Given the description of an element on the screen output the (x, y) to click on. 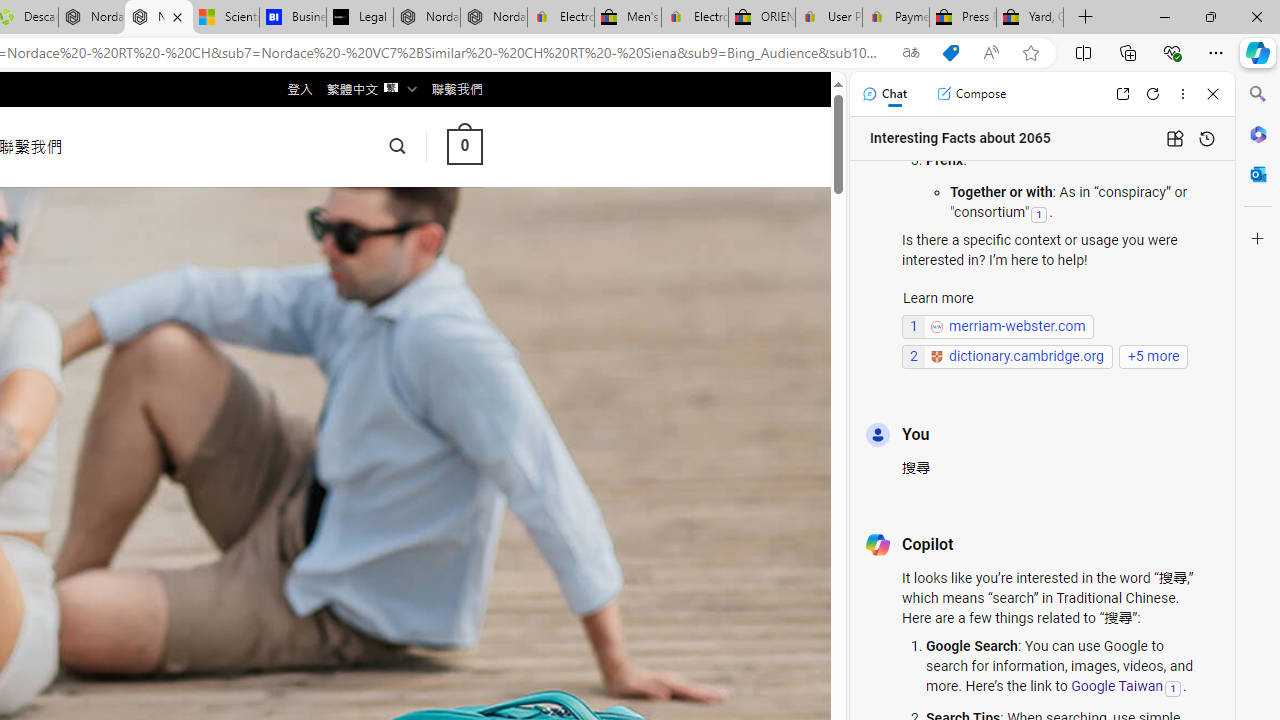
Compose (971, 93)
